Given the description of an element on the screen output the (x, y) to click on. 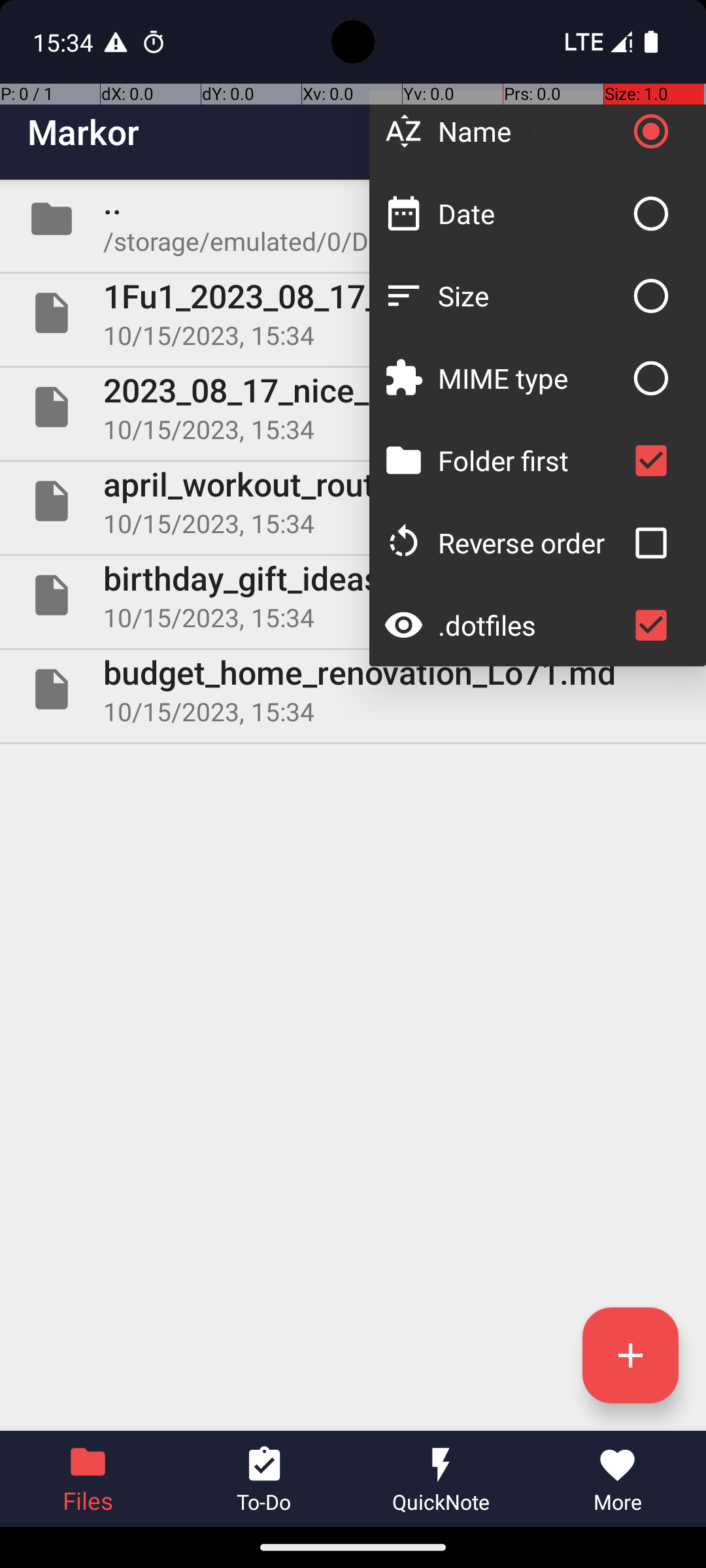
Size Element type: android.widget.TextView (530, 295)
MIME type Element type: android.widget.TextView (530, 377)
Folder first Element type: android.widget.TextView (530, 459)
Reverse order Element type: android.widget.TextView (530, 542)
.dotfiles Element type: android.widget.TextView (530, 624)
